Given the description of an element on the screen output the (x, y) to click on. 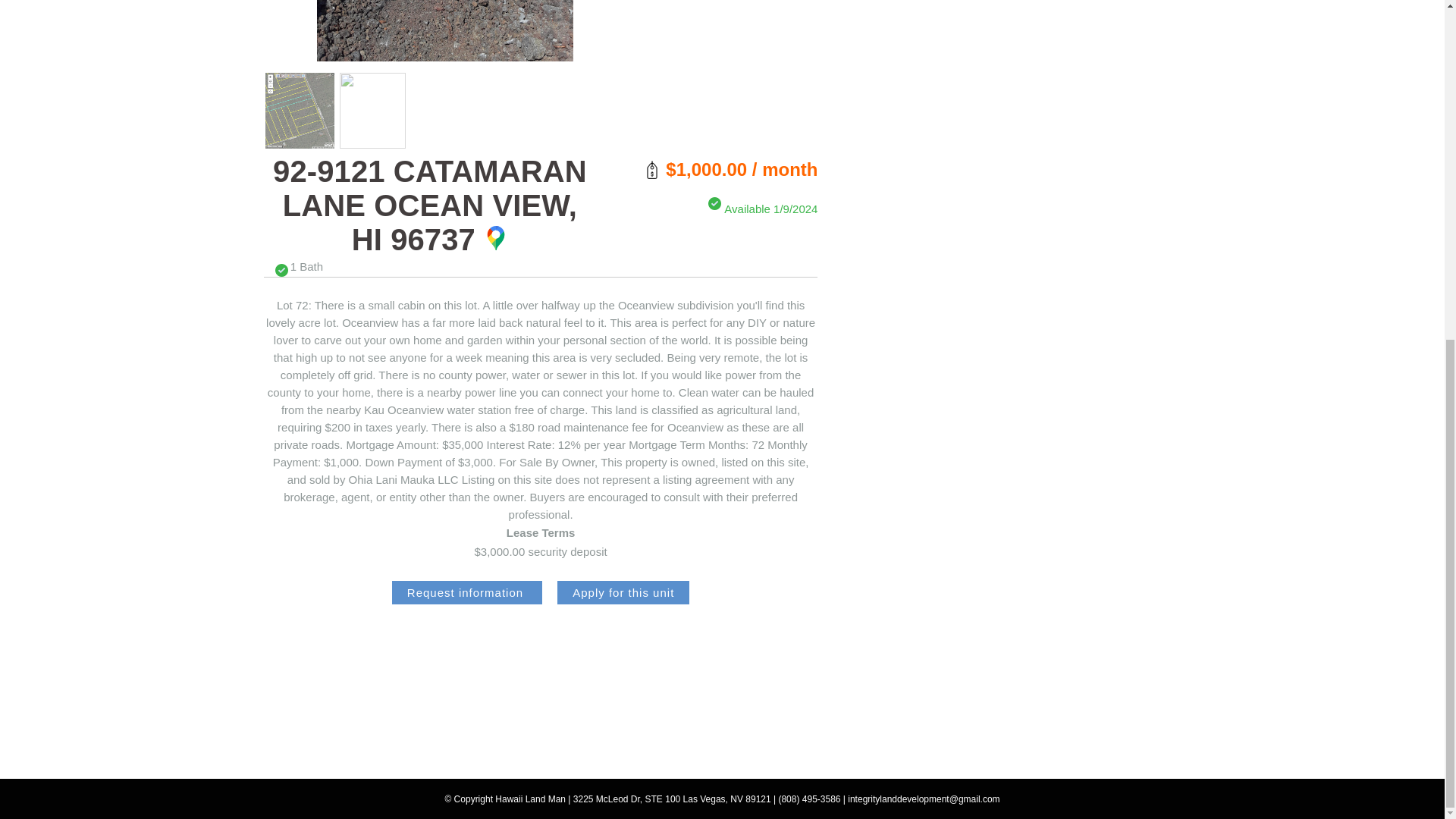
Opens in new window (495, 238)
Apply for this unit (622, 592)
Request information (466, 592)
